Given the description of an element on the screen output the (x, y) to click on. 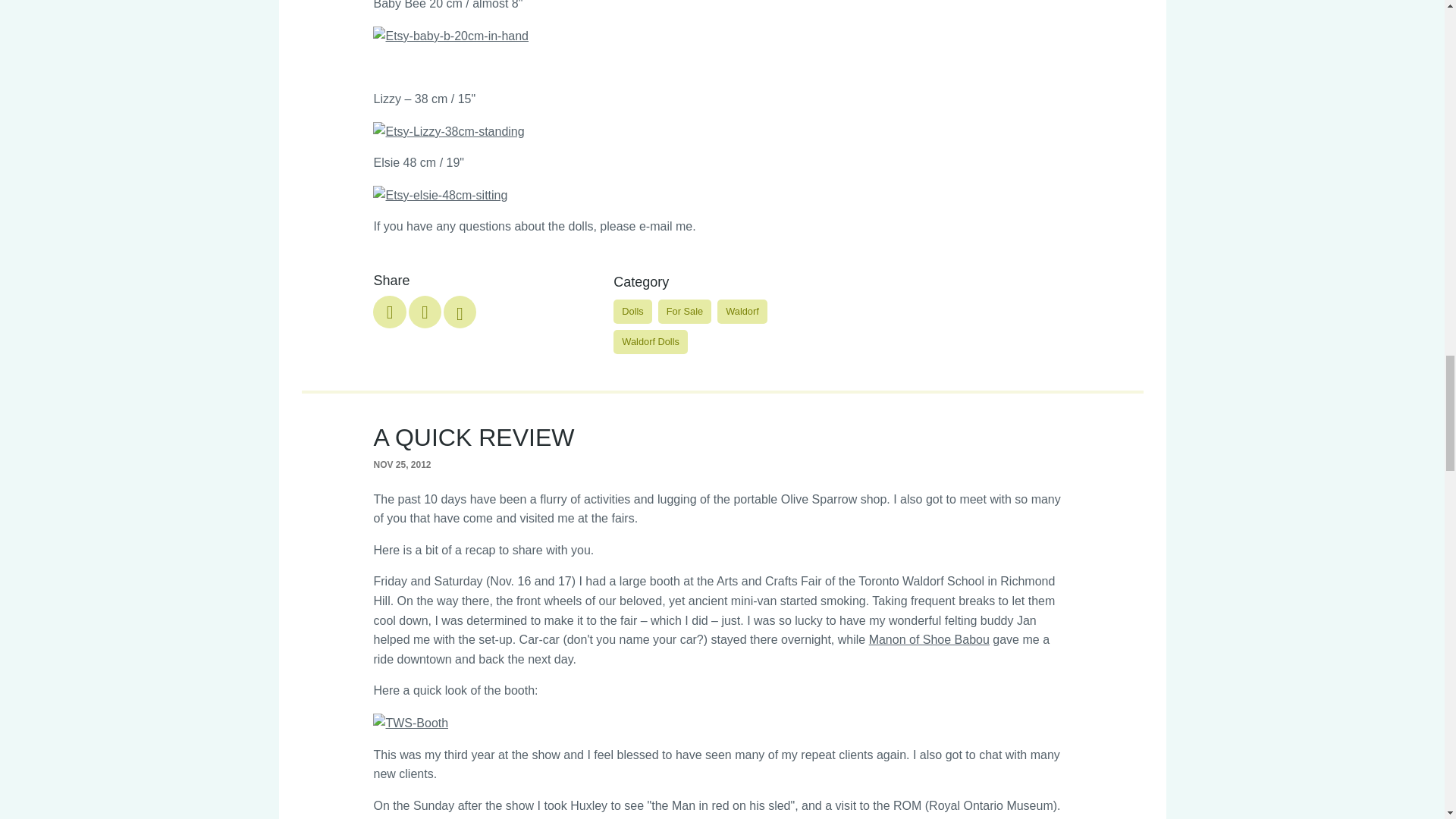
Olive Sparrow Children looking for their forever families (460, 311)
Etsy-baby-b-20cm-in-hand (450, 35)
Olive Sparrow Children looking for their forever families (425, 311)
Etsy-Lizzy-38cm-standing (448, 131)
Etsy-elsie-48cm-sitting (439, 195)
